Given the description of an element on the screen output the (x, y) to click on. 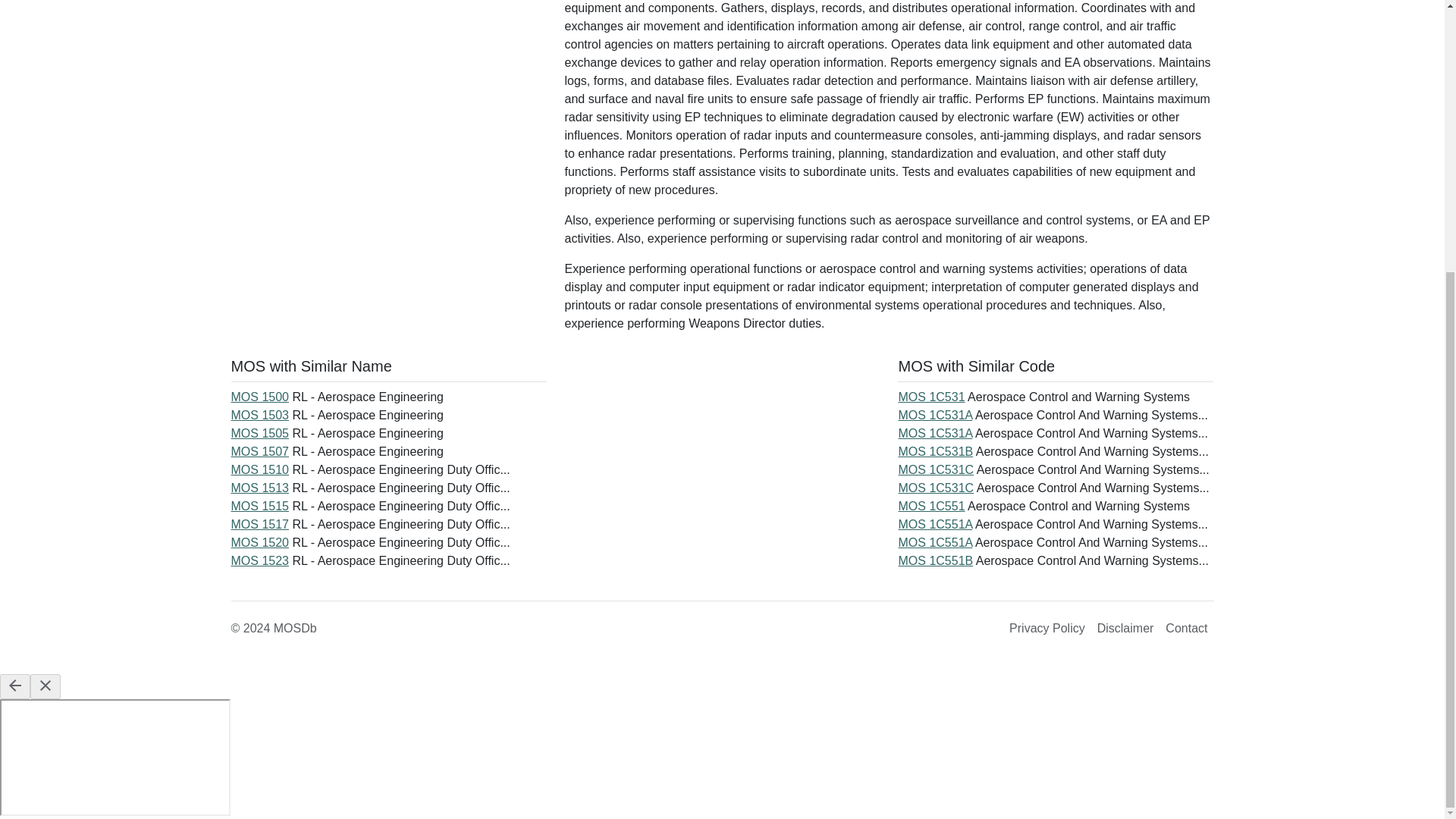
MOS 1500 (259, 396)
MOS 1C531B (935, 451)
MOS 1C531 (930, 396)
MOS 1523 (259, 560)
MOS 1507 (259, 451)
MOS 1C551B (935, 560)
Disclaimer (1125, 628)
MOS 1513 (259, 487)
MOS 1C551A (935, 542)
MOS 1C531A (935, 414)
MOS 1510 (259, 469)
MOS 1C531C (936, 487)
MOS 1C531A (935, 432)
MOS 1505 (259, 432)
MOS 1520 (259, 542)
